Given the description of an element on the screen output the (x, y) to click on. 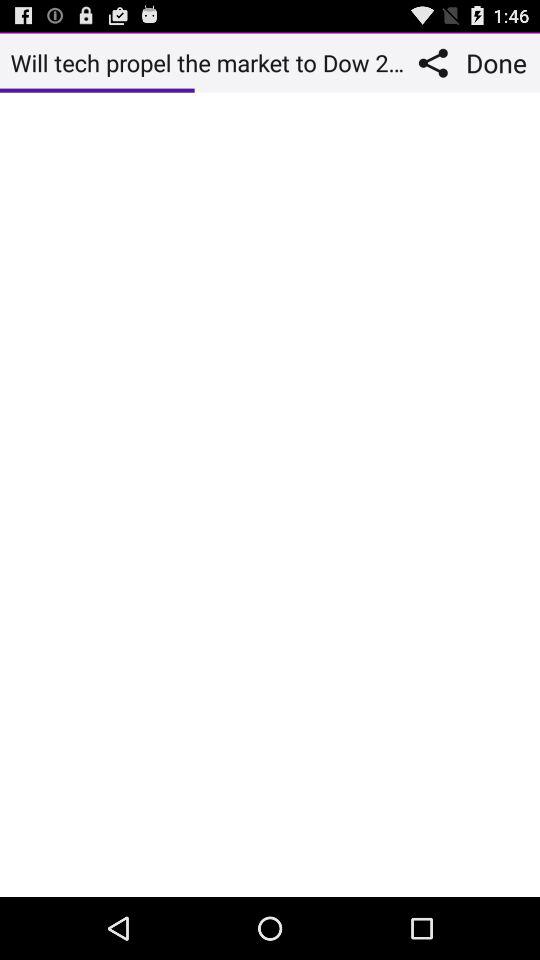
turn off done app (499, 62)
